Given the description of an element on the screen output the (x, y) to click on. 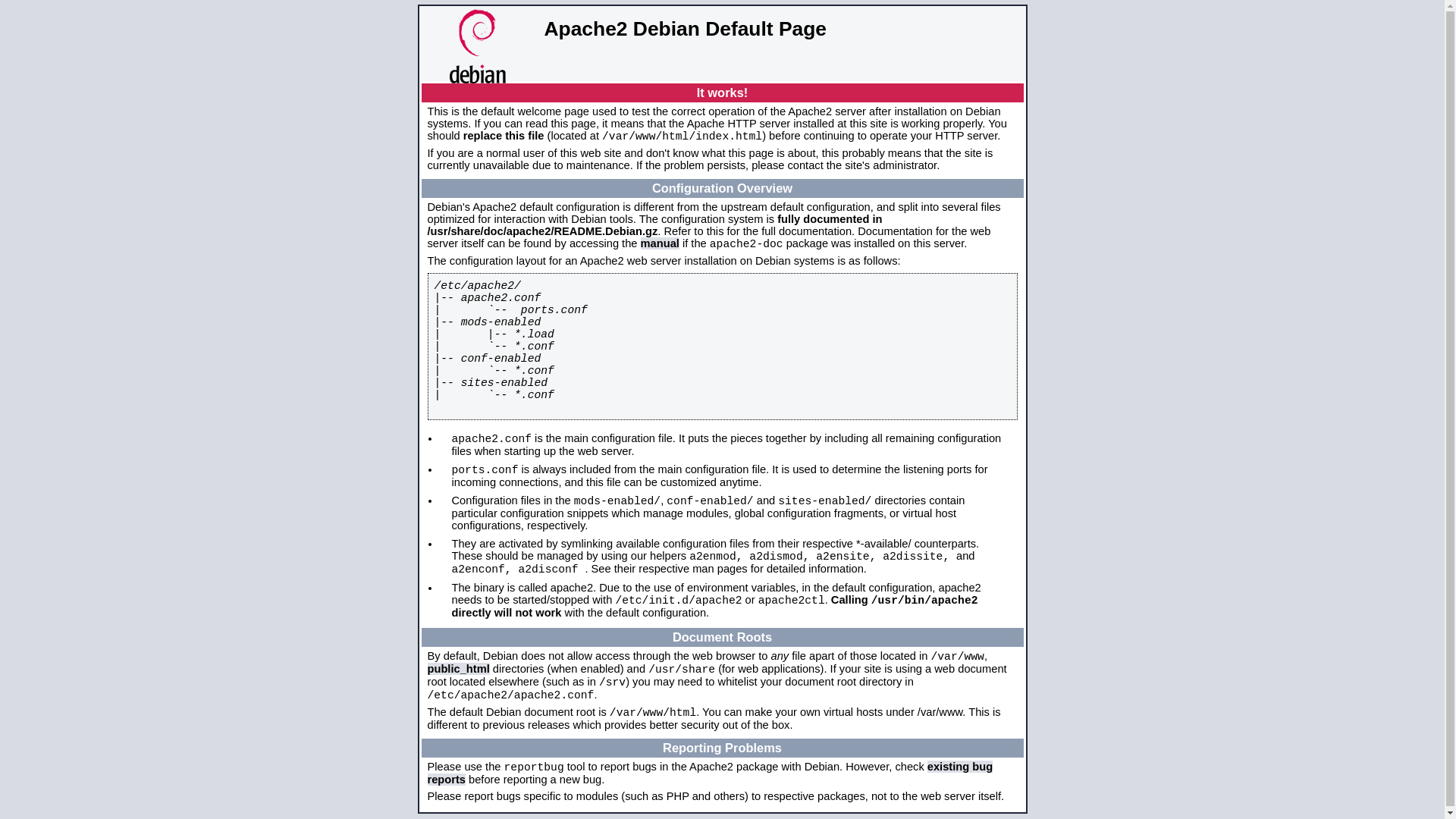
existing bug reports Element type: text (710, 772)
public_html Element type: text (458, 668)
manual Element type: text (659, 243)
